Given the description of an element on the screen output the (x, y) to click on. 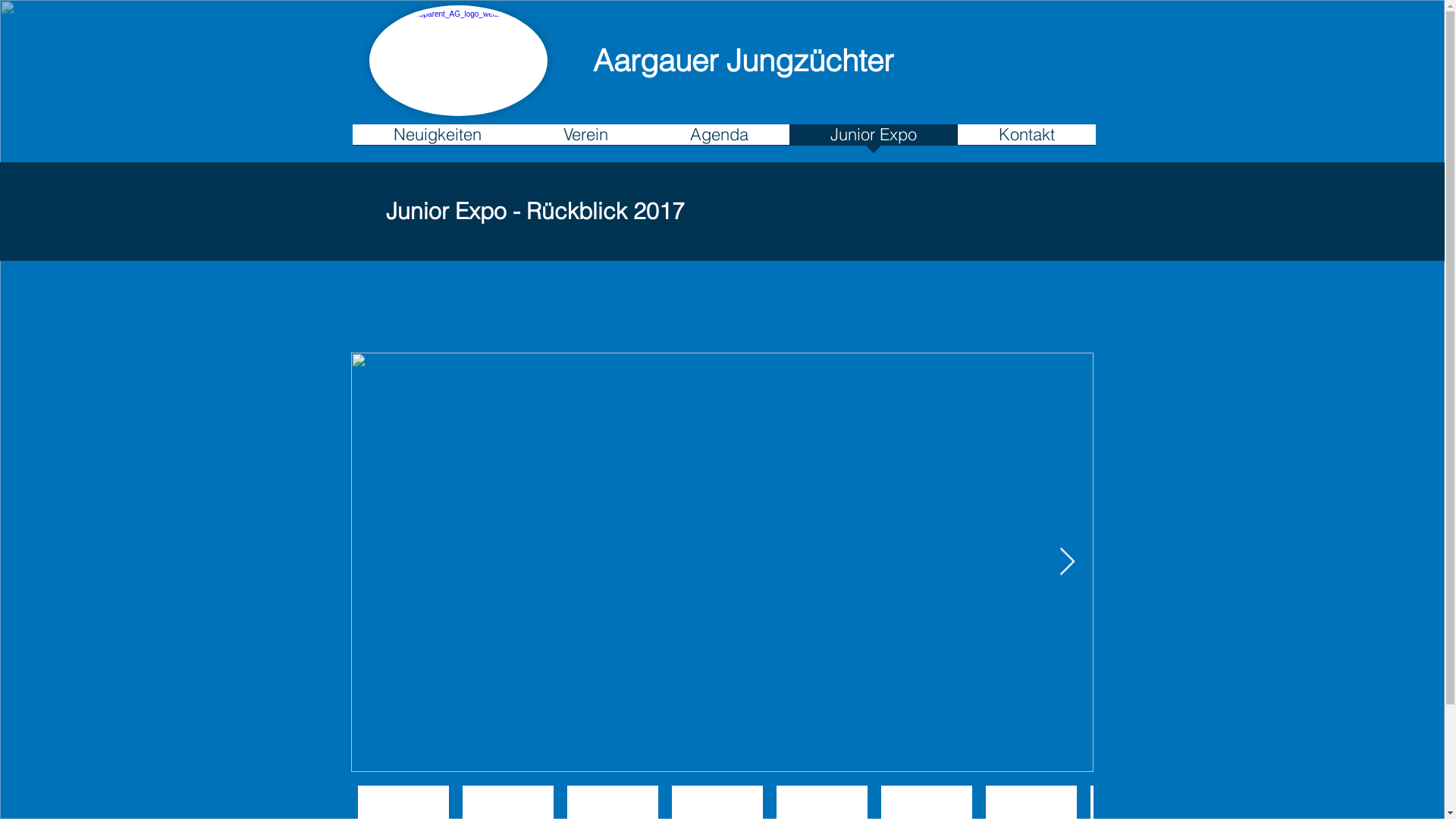
Agenda Element type: text (719, 139)
Neuigkeiten Element type: text (436, 139)
Kontakt Element type: text (1026, 139)
Junior Expo Element type: text (872, 139)
Verein Element type: text (584, 139)
